Given the description of an element on the screen output the (x, y) to click on. 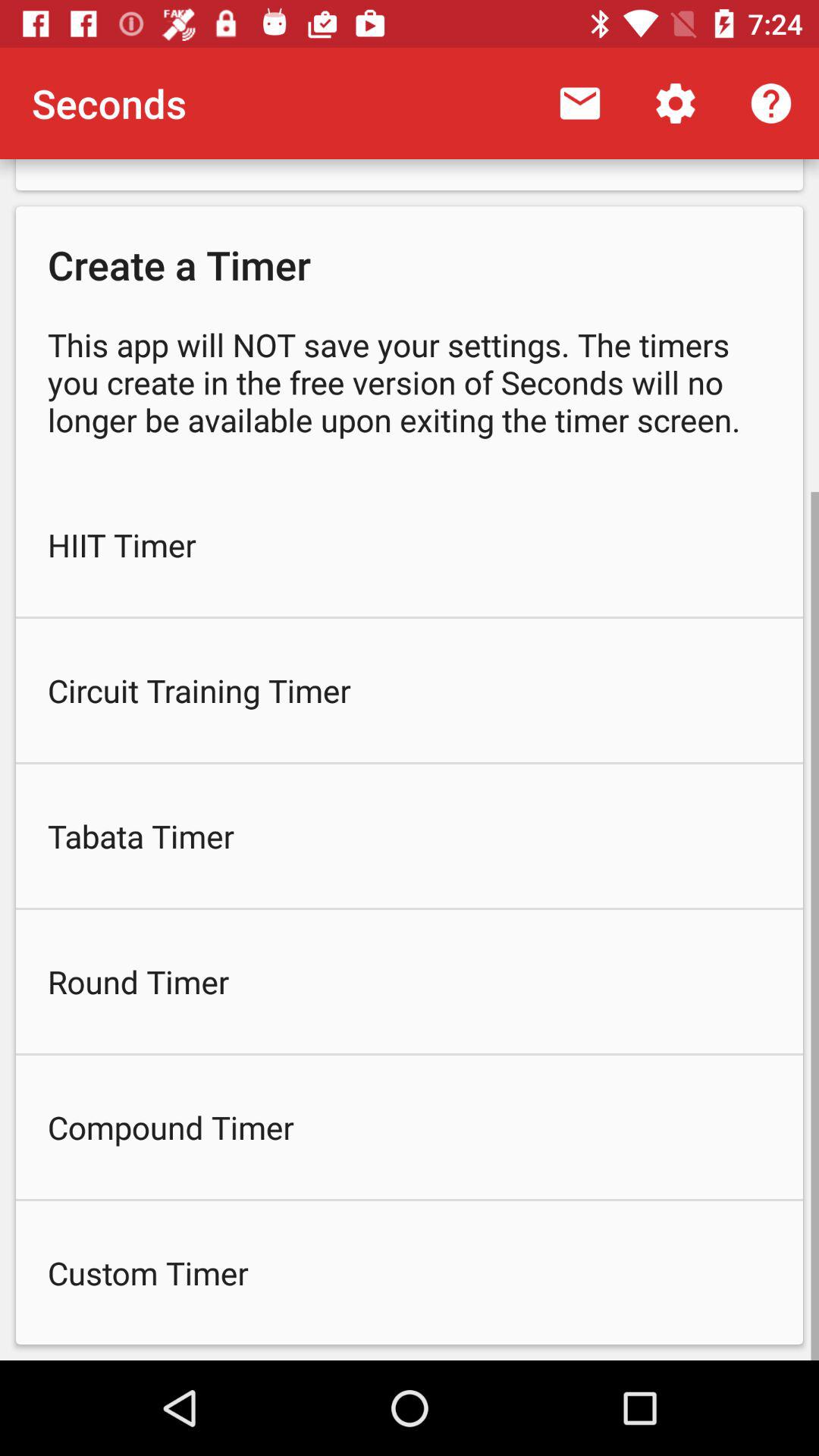
flip to circuit training timer (409, 690)
